Given the description of an element on the screen output the (x, y) to click on. 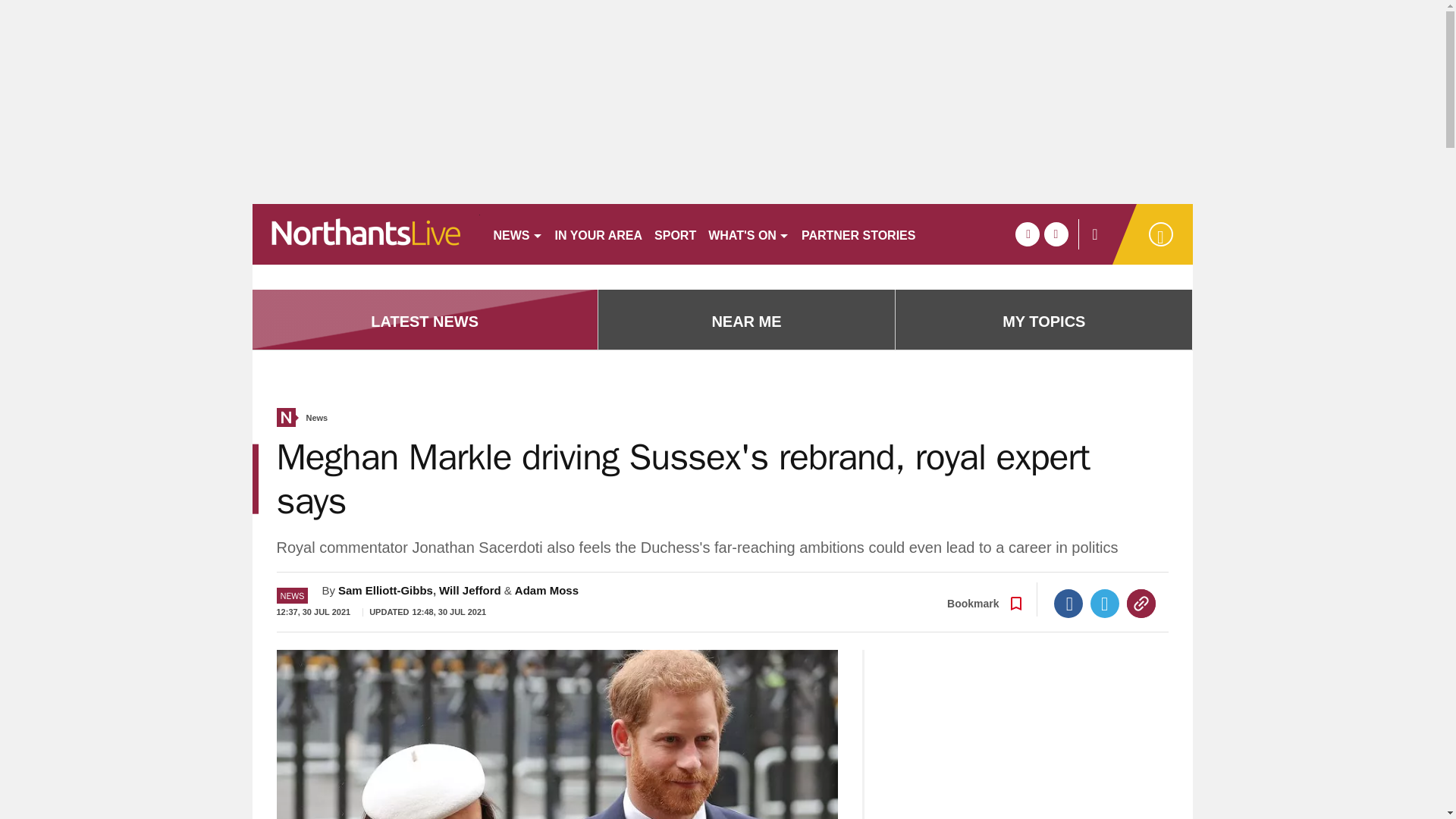
facebook (1026, 233)
Home (285, 416)
Twitter (1104, 603)
Facebook (1068, 603)
NEAR ME (746, 320)
IN YOUR AREA (598, 233)
News (317, 418)
twitter (1055, 233)
WHAT'S ON (747, 233)
northantslive (365, 233)
